Given the description of an element on the screen output the (x, y) to click on. 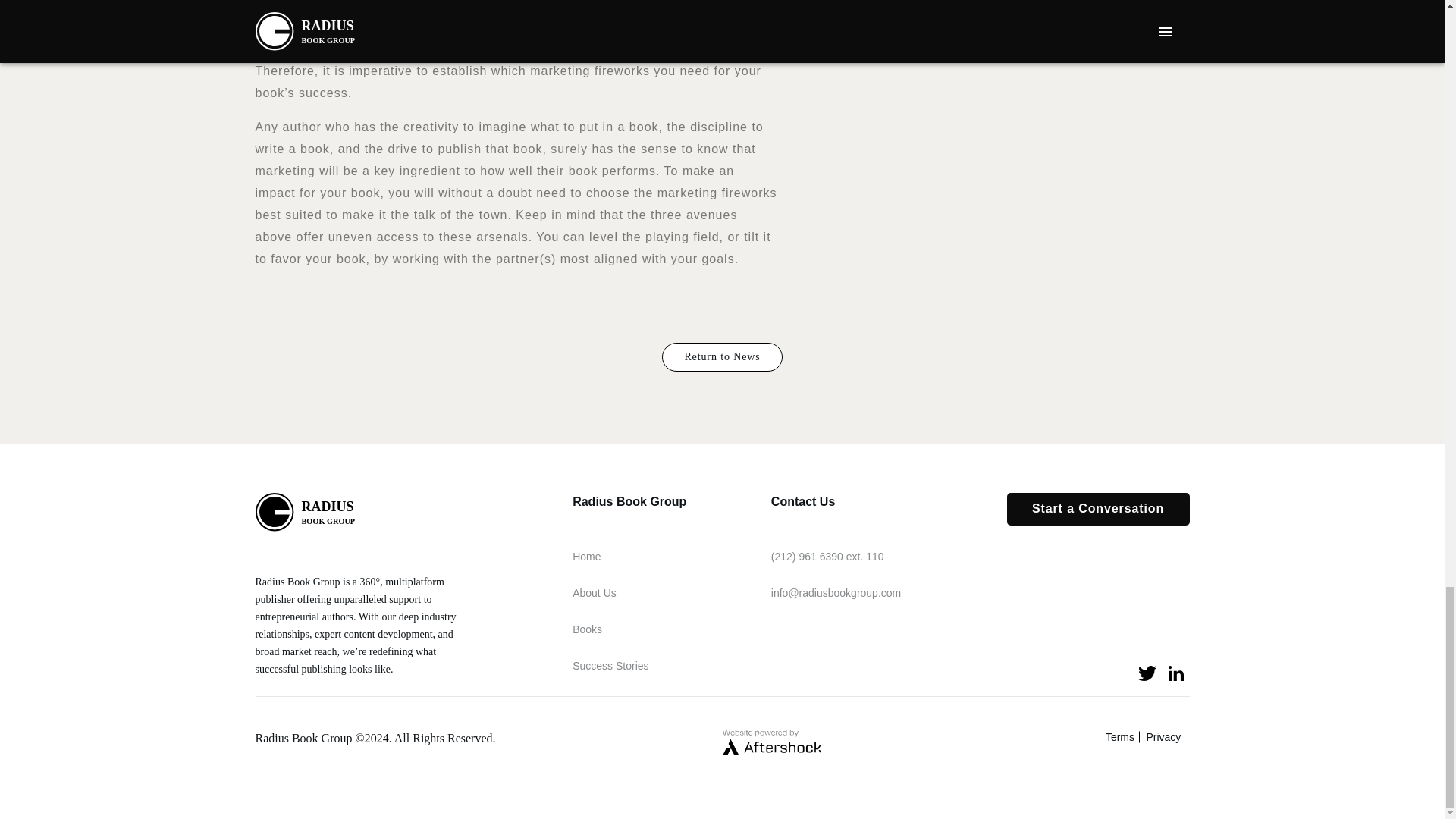
Return to News (721, 357)
Start a Conversation (311, 512)
Terms (1098, 509)
About Us (1122, 737)
Privacy (593, 593)
Home (1165, 737)
Books (585, 556)
Success Stories (587, 629)
